Given the description of an element on the screen output the (x, y) to click on. 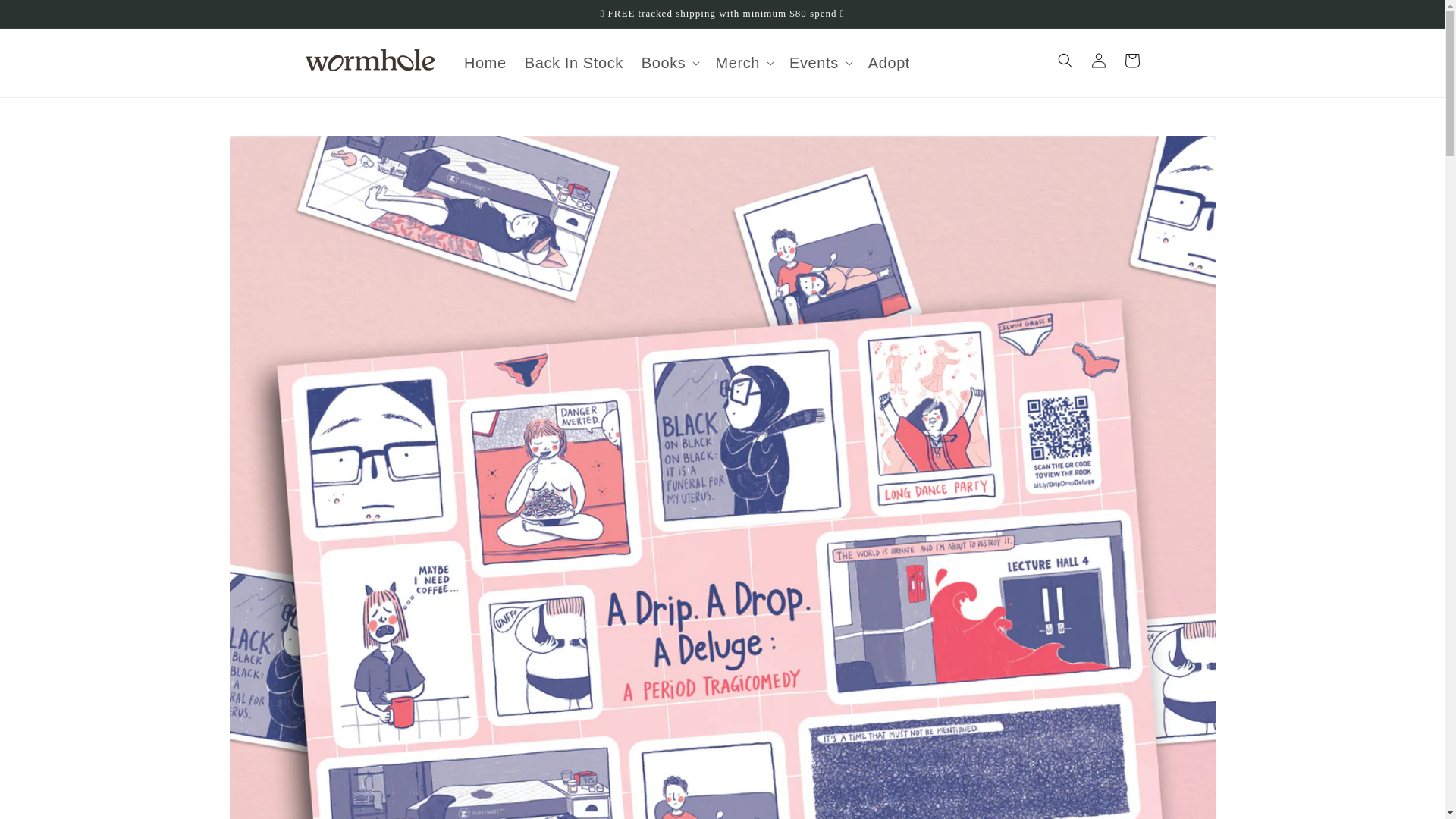
Back In Stock (573, 62)
Home (484, 62)
Log in (1098, 60)
Cart (1131, 60)
Skip to content (45, 16)
Adopt (888, 62)
